Given the description of an element on the screen output the (x, y) to click on. 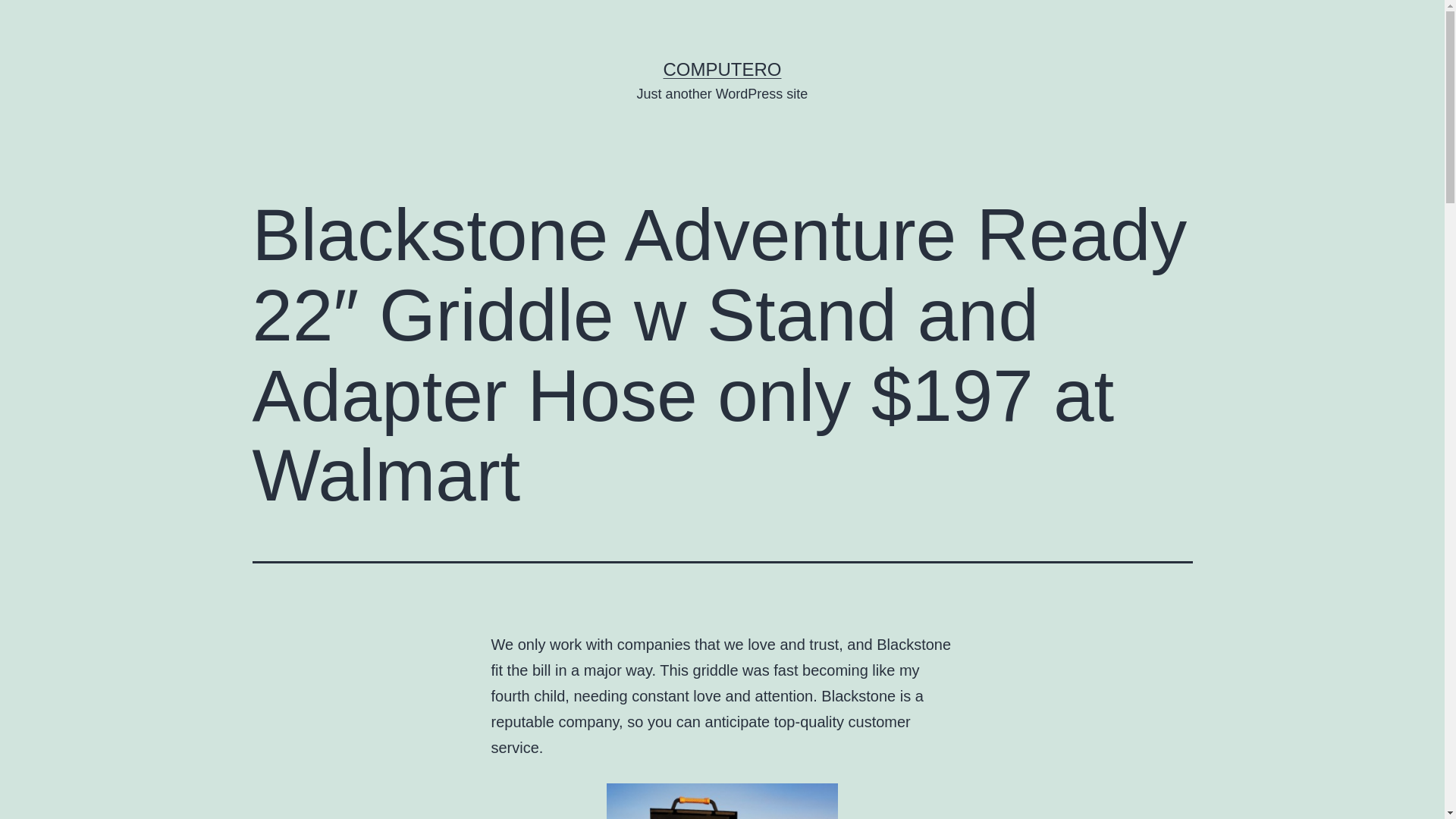
COMPUTERO (721, 68)
